Given the description of an element on the screen output the (x, y) to click on. 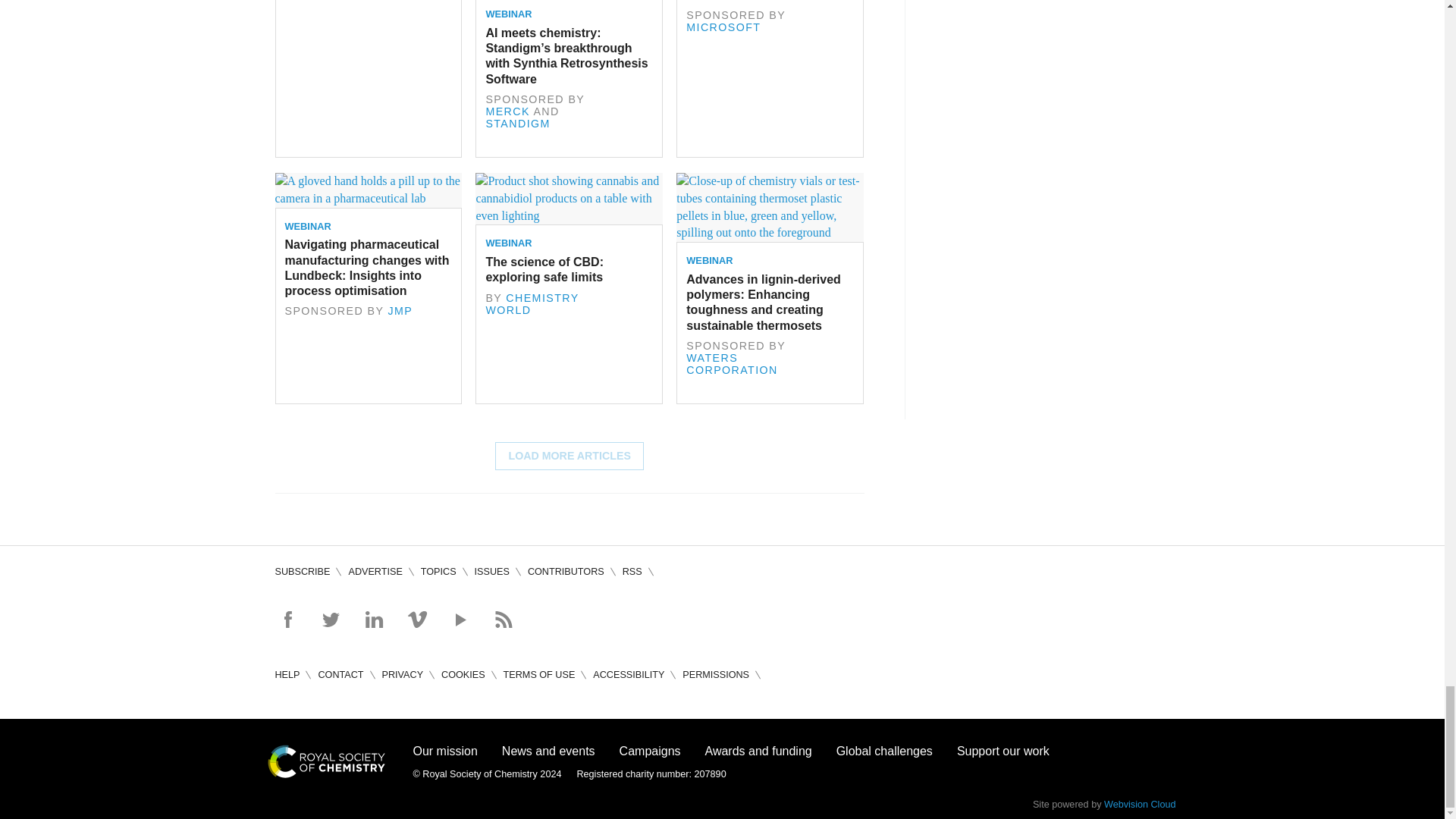
Follow on Twitter (330, 619)
Connect with us on RSS (504, 619)
Connect on Linked in (373, 619)
Watch on YouTube (458, 619)
Watch on Vimeo (416, 619)
Follow on Facebook (287, 619)
